Given the description of an element on the screen output the (x, y) to click on. 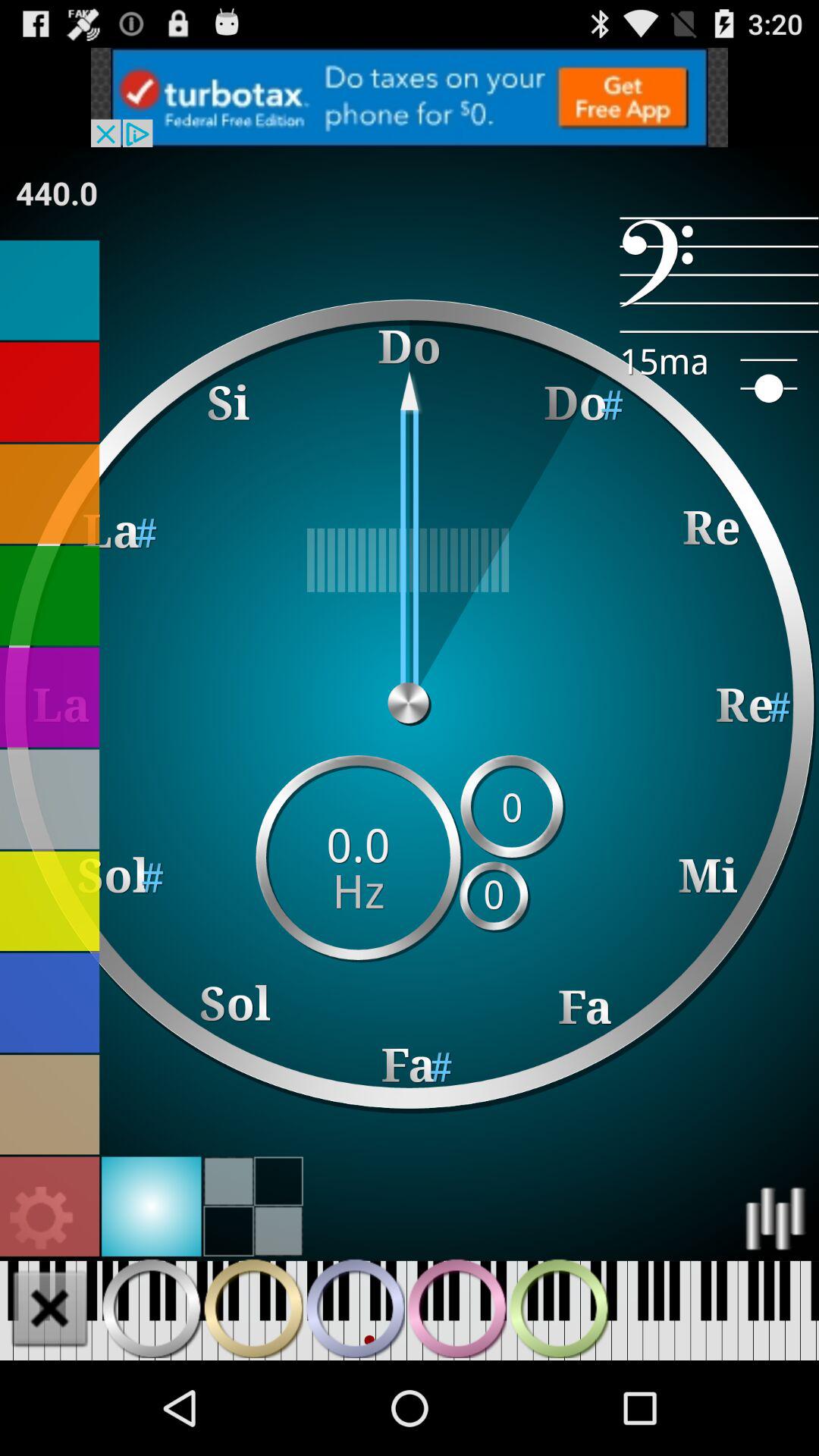
launch app to the right of 440.0 item (719, 274)
